Given the description of an element on the screen output the (x, y) to click on. 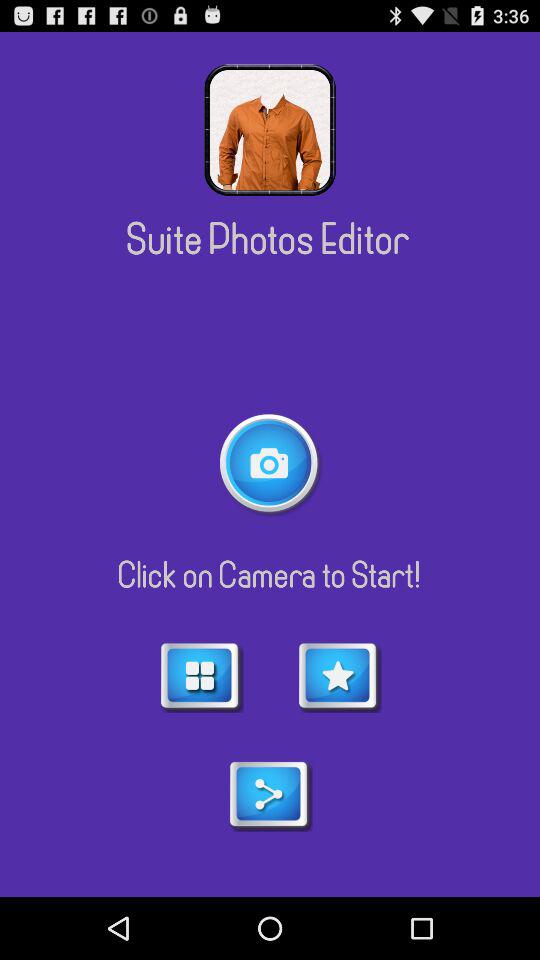
take picture button (269, 463)
